Given the description of an element on the screen output the (x, y) to click on. 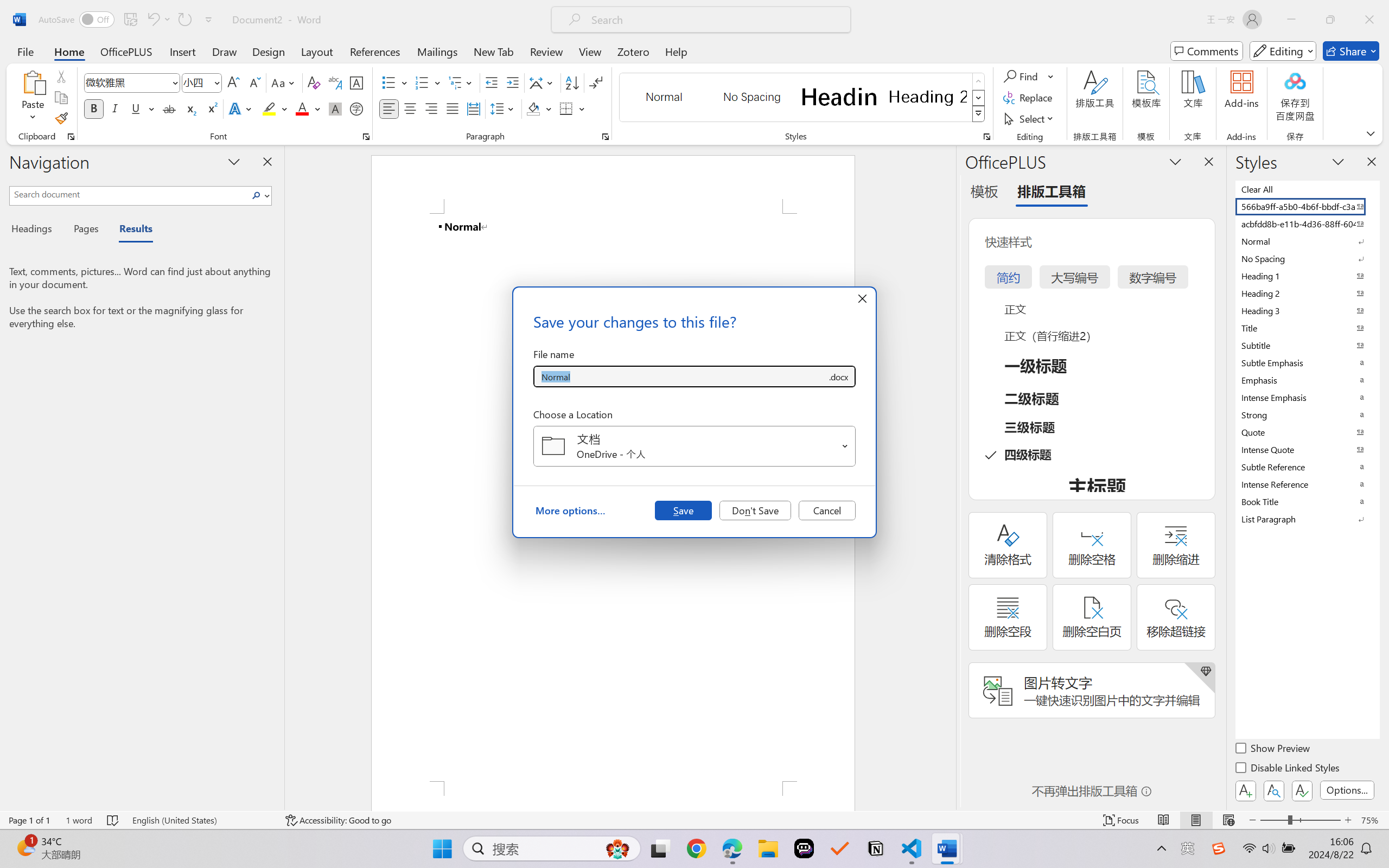
Multilevel List (461, 82)
Subtle Reference (1306, 466)
References (375, 51)
Search (259, 195)
Web Layout (1228, 819)
Font (132, 82)
Show Preview (1273, 749)
Font Color Red (302, 108)
Disable Linked Styles (1287, 769)
No Spacing (1306, 258)
Word Count 1 word (78, 819)
Task Pane Options (1175, 161)
AutoSave (76, 19)
